Given the description of an element on the screen output the (x, y) to click on. 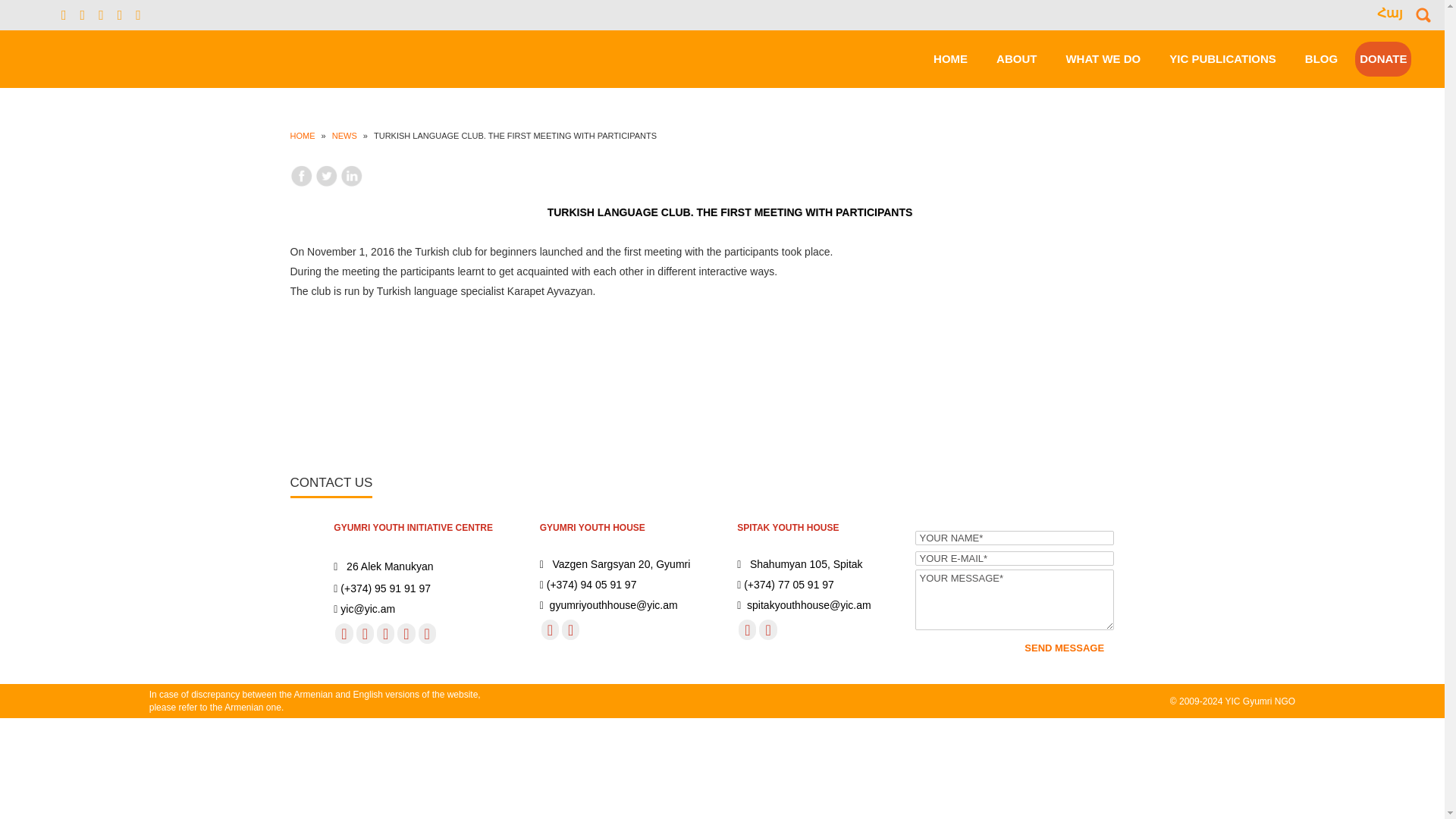
SEND MESSAGE (1063, 647)
WHAT WE DO (1102, 58)
ABOUT (1016, 58)
HOME (949, 58)
YIC PUBLICATIONS (1222, 58)
